Given the description of an element on the screen output the (x, y) to click on. 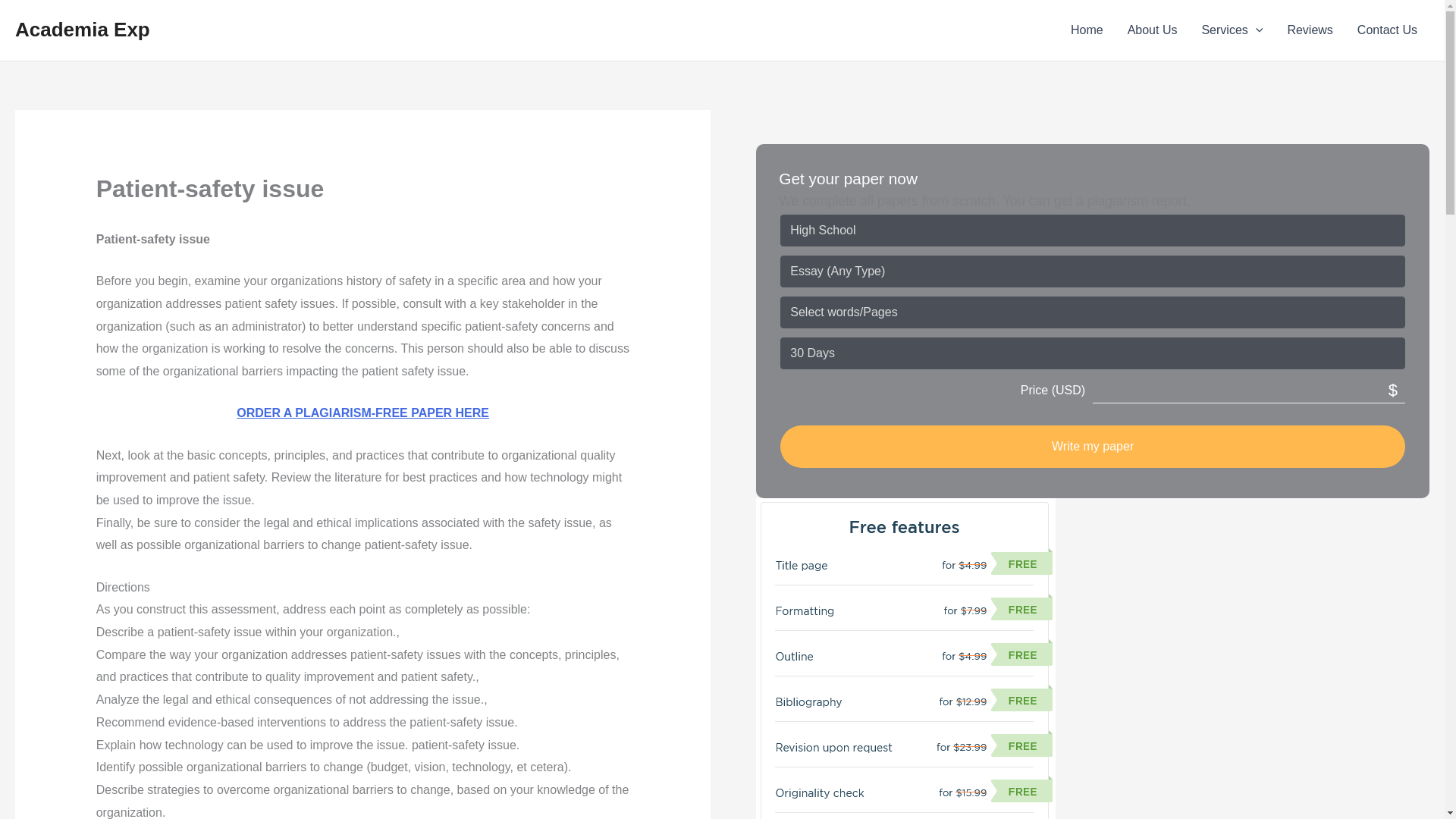
About Us (1152, 30)
Services (1232, 30)
Contact Us (1387, 30)
Reviews (1309, 30)
Academia Exp (81, 29)
Home (1086, 30)
